Given the description of an element on the screen output the (x, y) to click on. 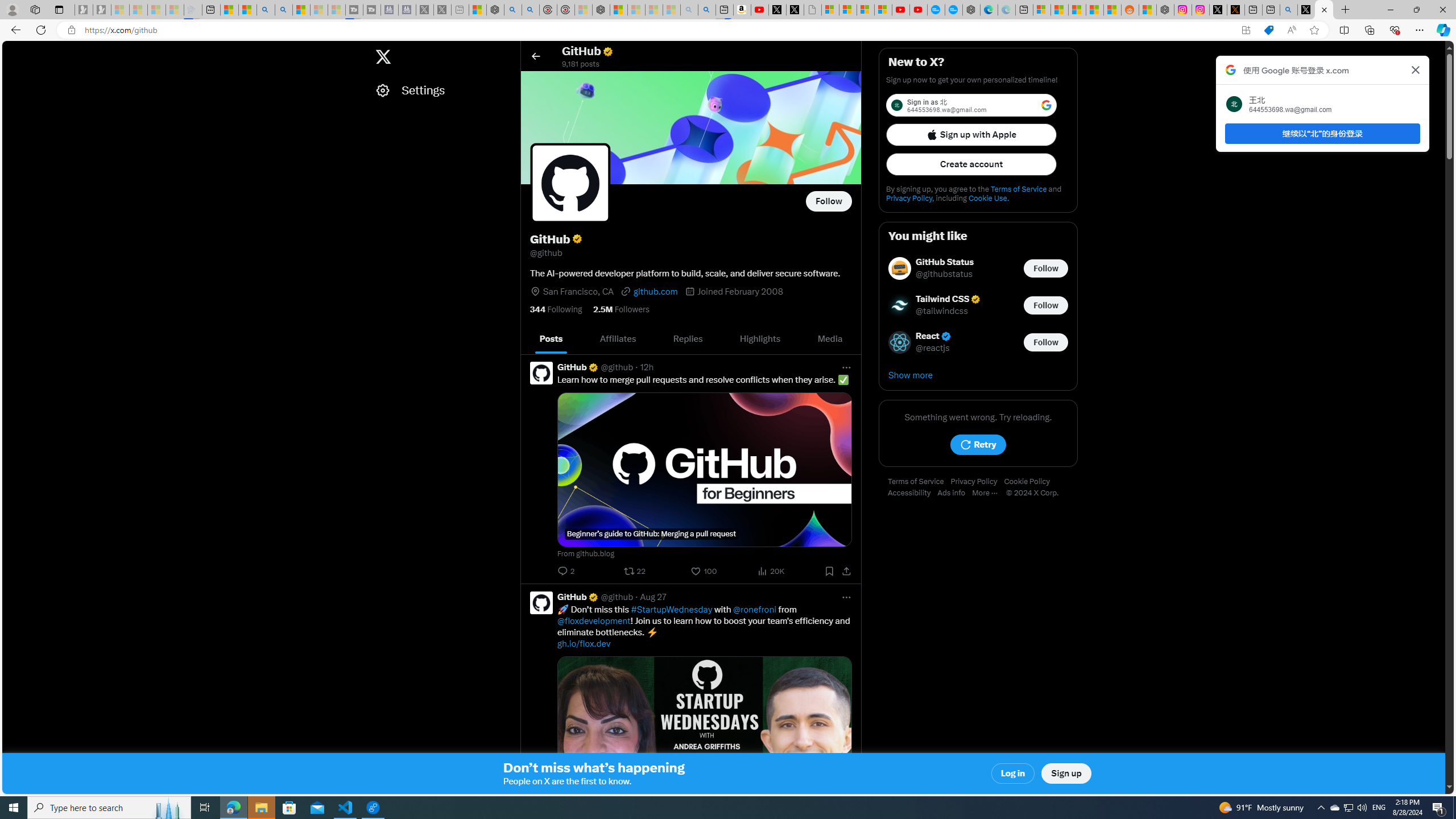
Newsletter Sign Up - Sleeping (102, 9)
Follow @reactjs (1045, 341)
poe - Search (513, 9)
2.5M Followers (620, 309)
The most popular Google 'how to' searches (953, 9)
Replies (688, 338)
